Given the description of an element on the screen output the (x, y) to click on. 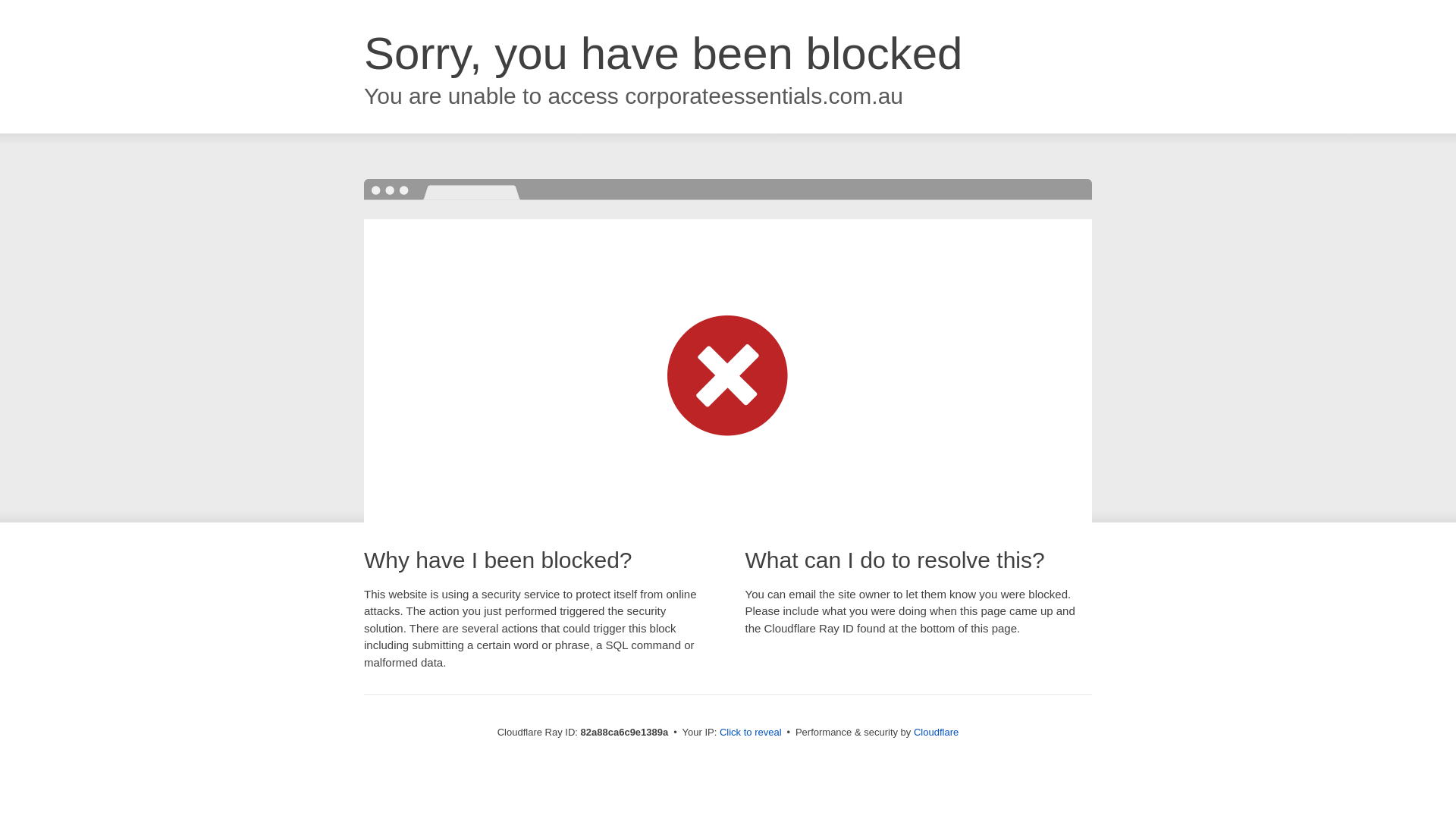
Cloudflare Element type: text (935, 731)
Click to reveal Element type: text (750, 732)
